Given the description of an element on the screen output the (x, y) to click on. 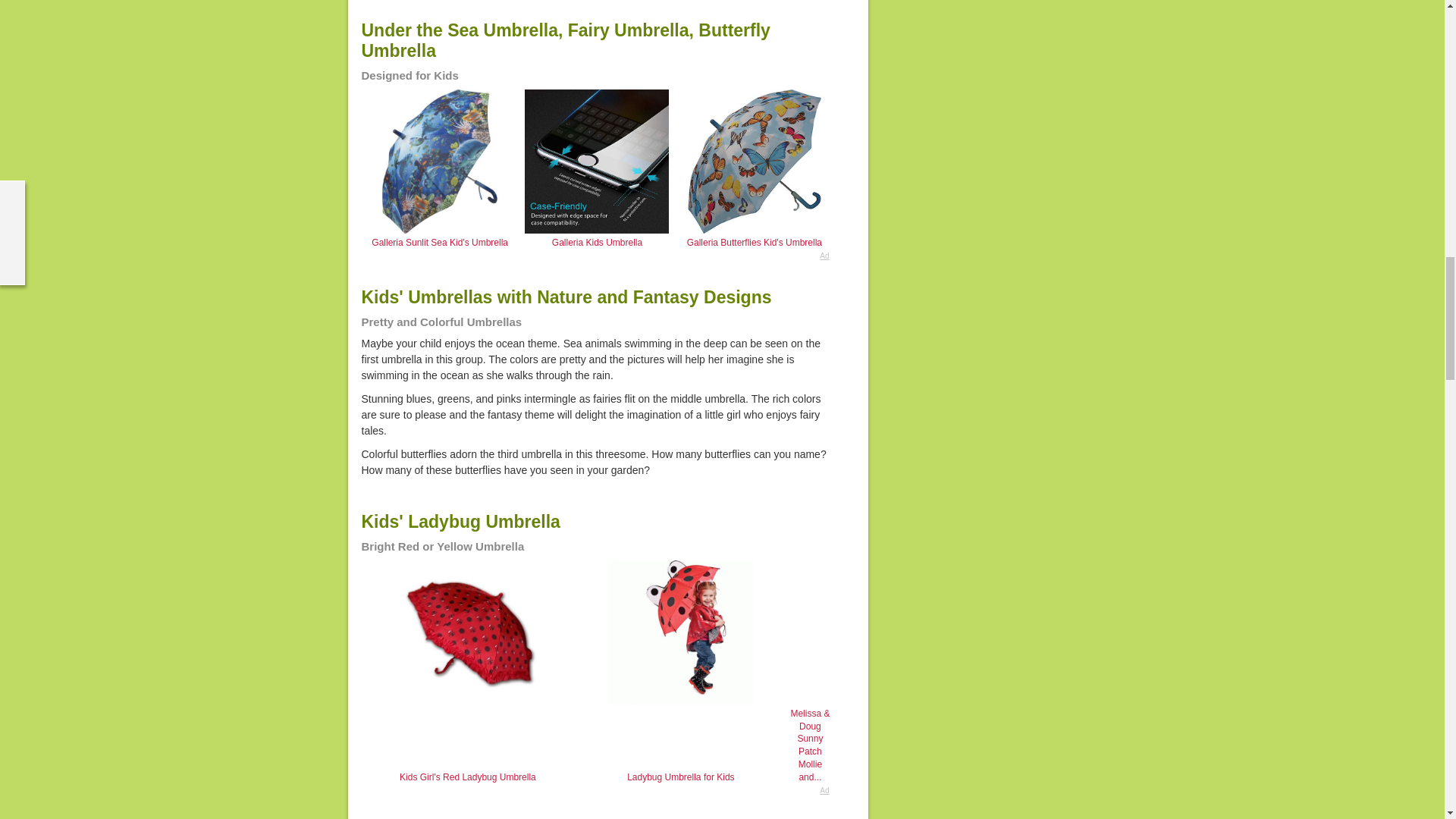
Ad (597, 255)
Galleria Sunlit Sea Kid's Umbrella (439, 242)
Galleria Butterflies Kid's Umbrella (754, 242)
Galleria Kids Umbrella (596, 242)
